Given the description of an element on the screen output the (x, y) to click on. 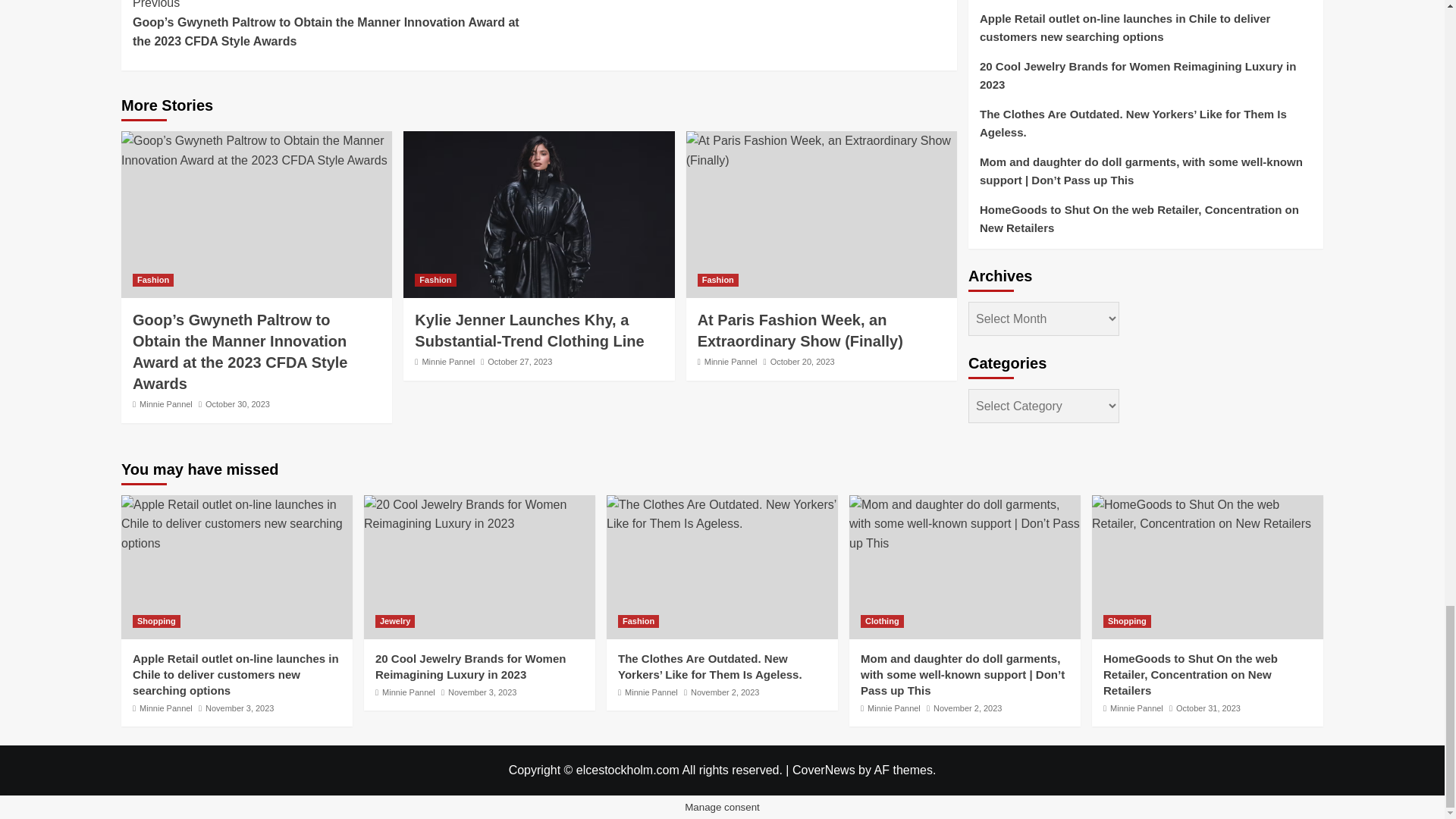
Minnie Pannel (165, 403)
Fashion (152, 279)
Kylie Jenner Launches Khy, a Substantial-Trend Clothing Line (538, 214)
